Given the description of an element on the screen output the (x, y) to click on. 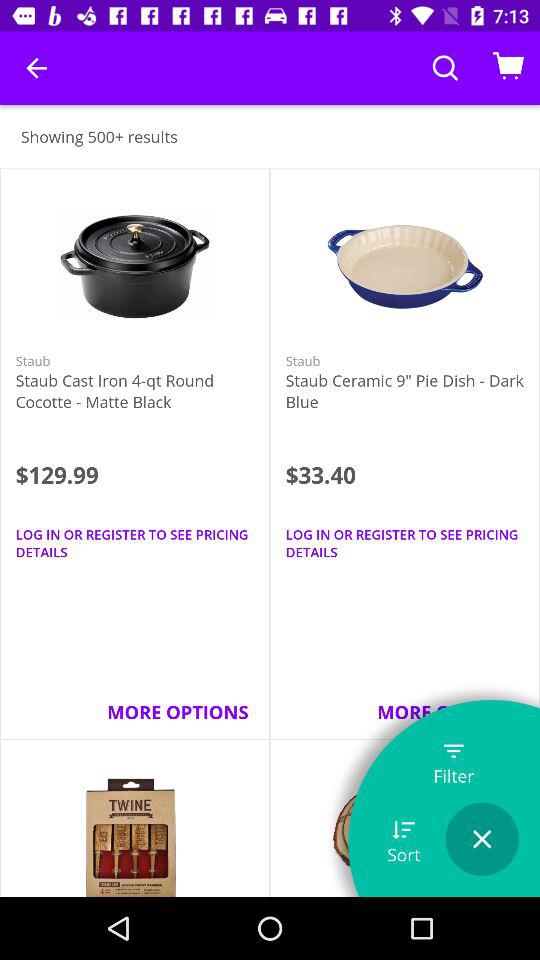
select search (445, 68)
click on image on top of 3340 (404, 267)
select the cart icon on the top right corner (508, 68)
